Given the description of an element on the screen output the (x, y) to click on. 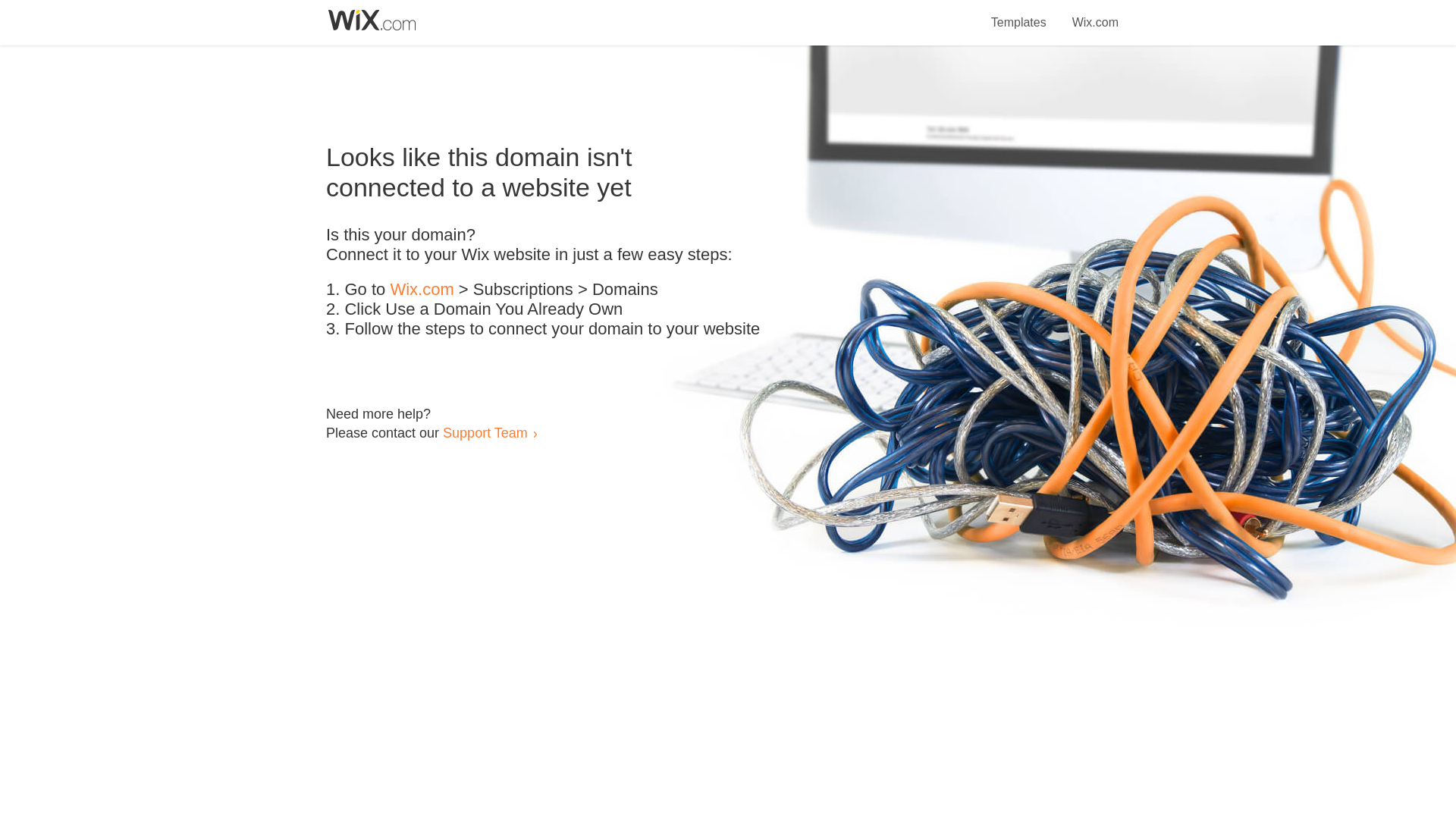
Support Team (484, 432)
Templates (1018, 14)
Wix.com (1095, 14)
Wix.com (421, 289)
